Given the description of an element on the screen output the (x, y) to click on. 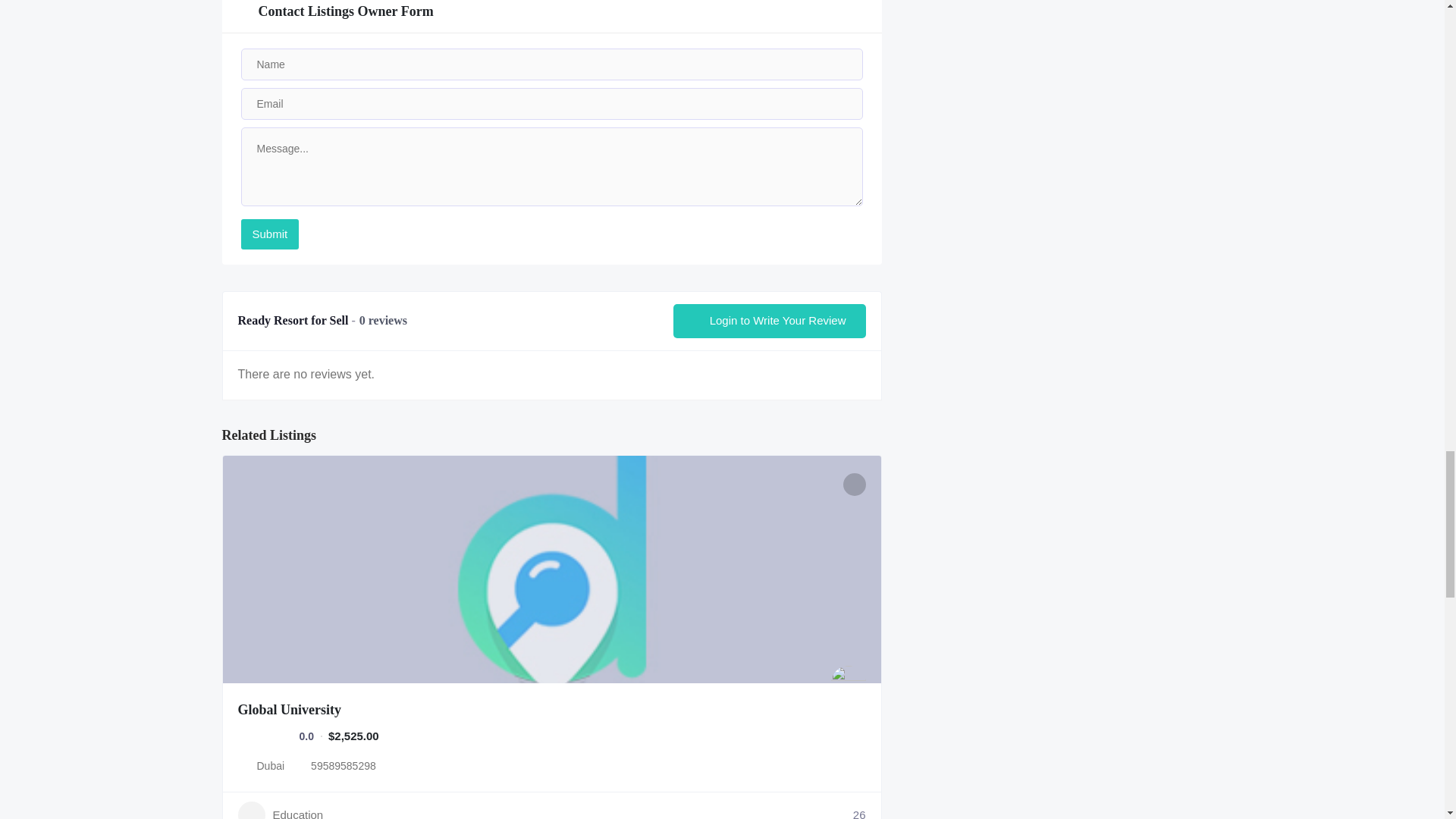
Global University (290, 709)
Education (280, 810)
59589585298 (343, 765)
Login to Write Your Review (769, 320)
Submit (270, 234)
Dubai (269, 766)
